Given the description of an element on the screen output the (x, y) to click on. 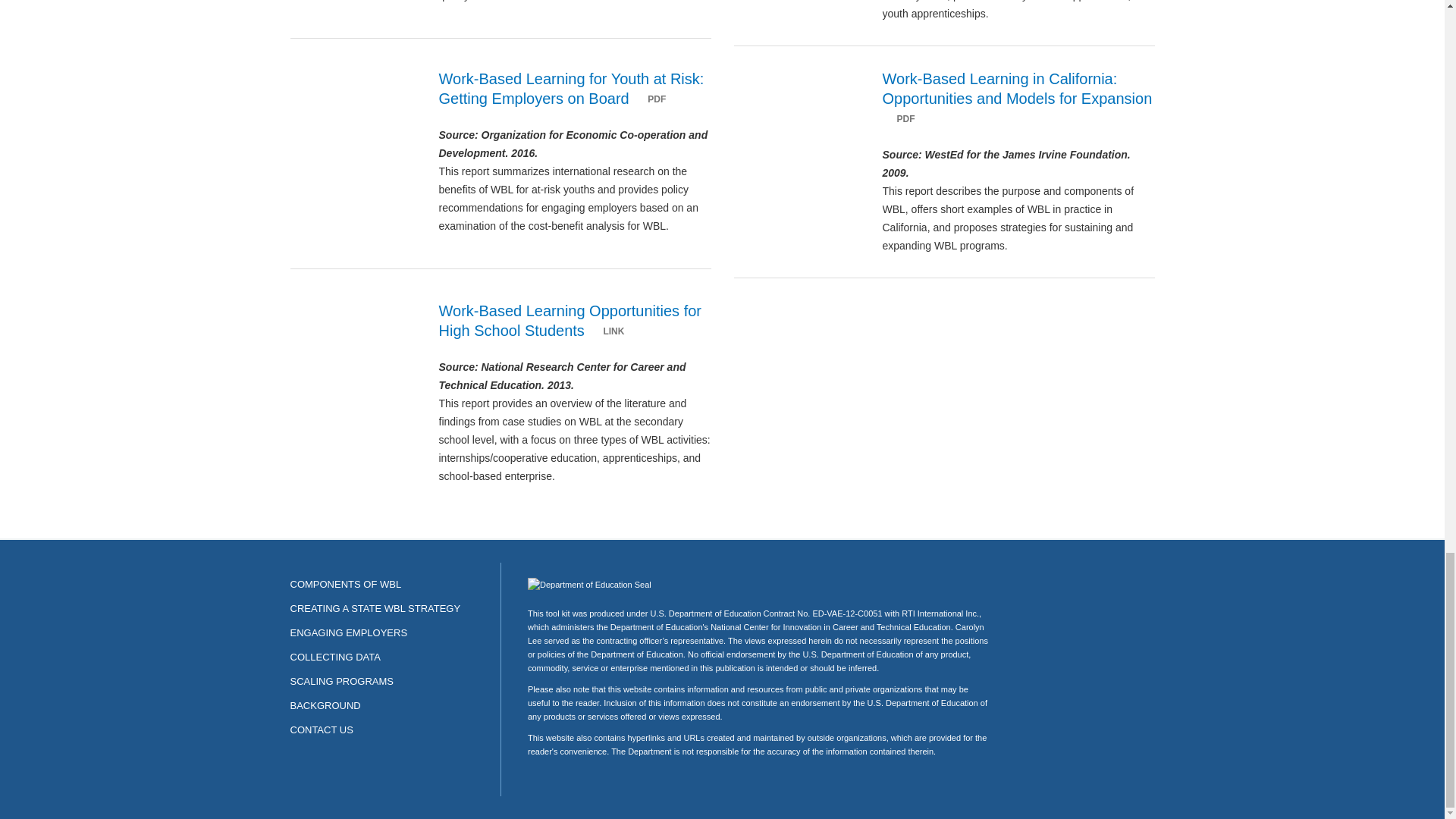
COMPONENTS OF WBL (345, 583)
CREATING A STATE WBL STRATEGY (374, 608)
